Given the description of an element on the screen output the (x, y) to click on. 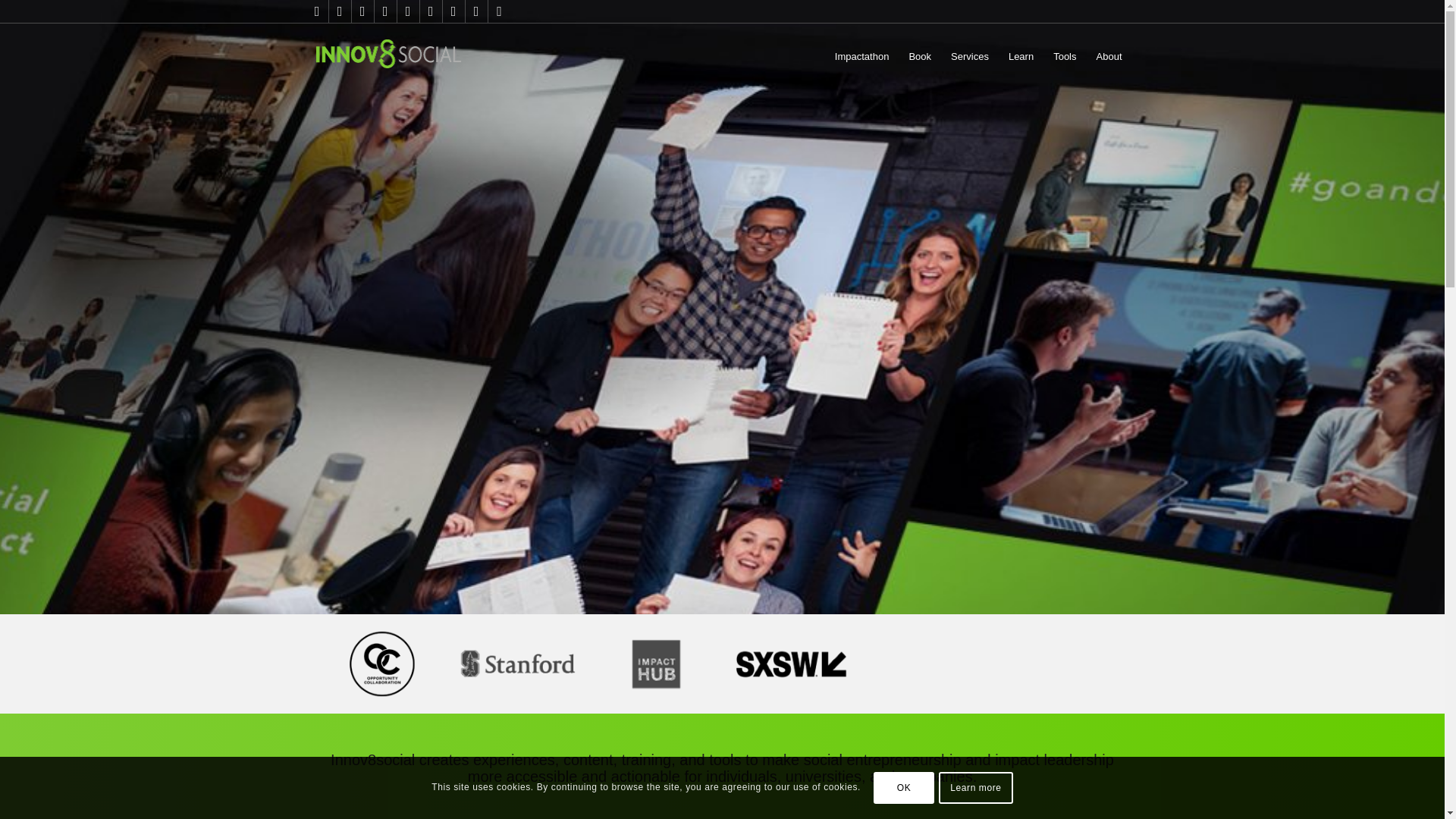
Impactathon (862, 56)
Flickr (453, 11)
Gplus (408, 11)
Linkedin (363, 11)
Mail (499, 11)
Twitter (317, 11)
Instagram (476, 11)
Pinterest (431, 11)
Facebook (339, 11)
Youtube (385, 11)
